Given the description of an element on the screen output the (x, y) to click on. 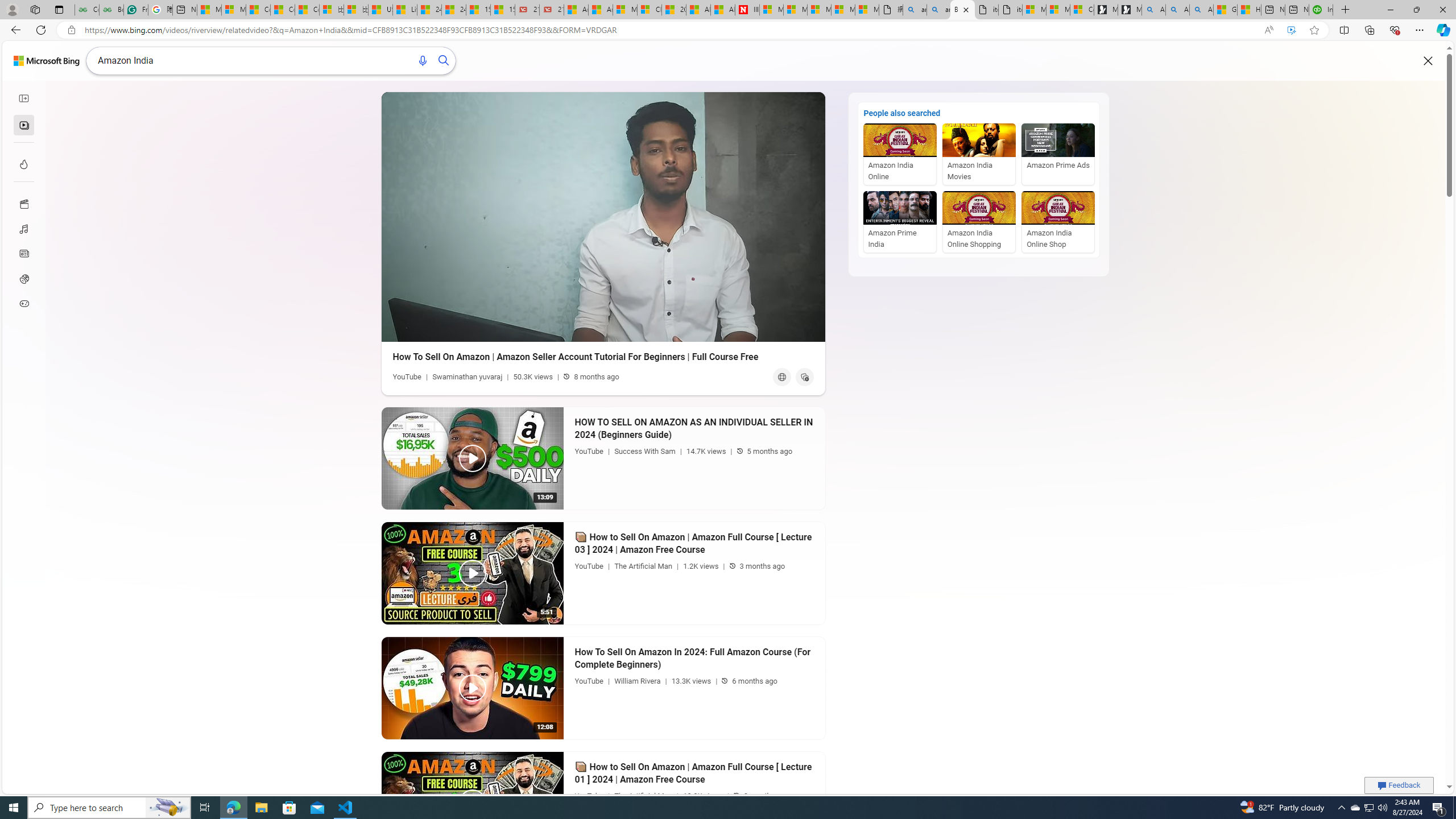
Amazon Prime Ads (1058, 153)
Microsoft Services Agreement (795, 9)
Trending (23, 163)
Introduction (595, 330)
amazon - Search Videos (938, 9)
Sports (23, 278)
Amazon India Online Shopping (978, 221)
Gaming (23, 303)
itconcepthk.com/projector_solutions.mp4 (1009, 9)
